Given the description of an element on the screen output the (x, y) to click on. 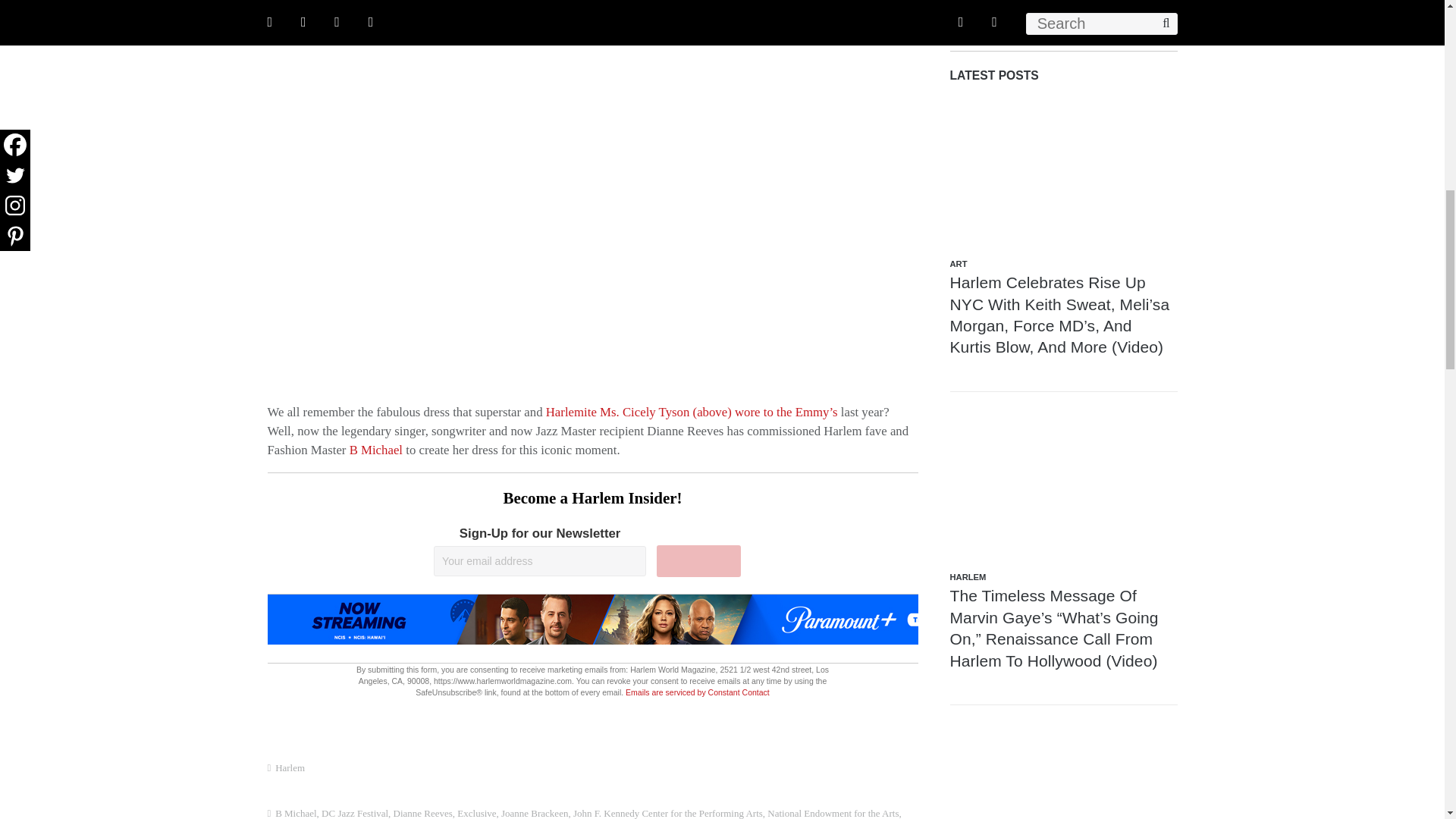
Sign up (698, 561)
B Michael (377, 450)
DC Jazz Festival (354, 813)
B Michael (295, 813)
Exclusive (476, 813)
Emails are serviced by Constant Contact (698, 691)
Harlem (289, 767)
Sign up (698, 561)
Dianne Reeves (422, 813)
